Given the description of an element on the screen output the (x, y) to click on. 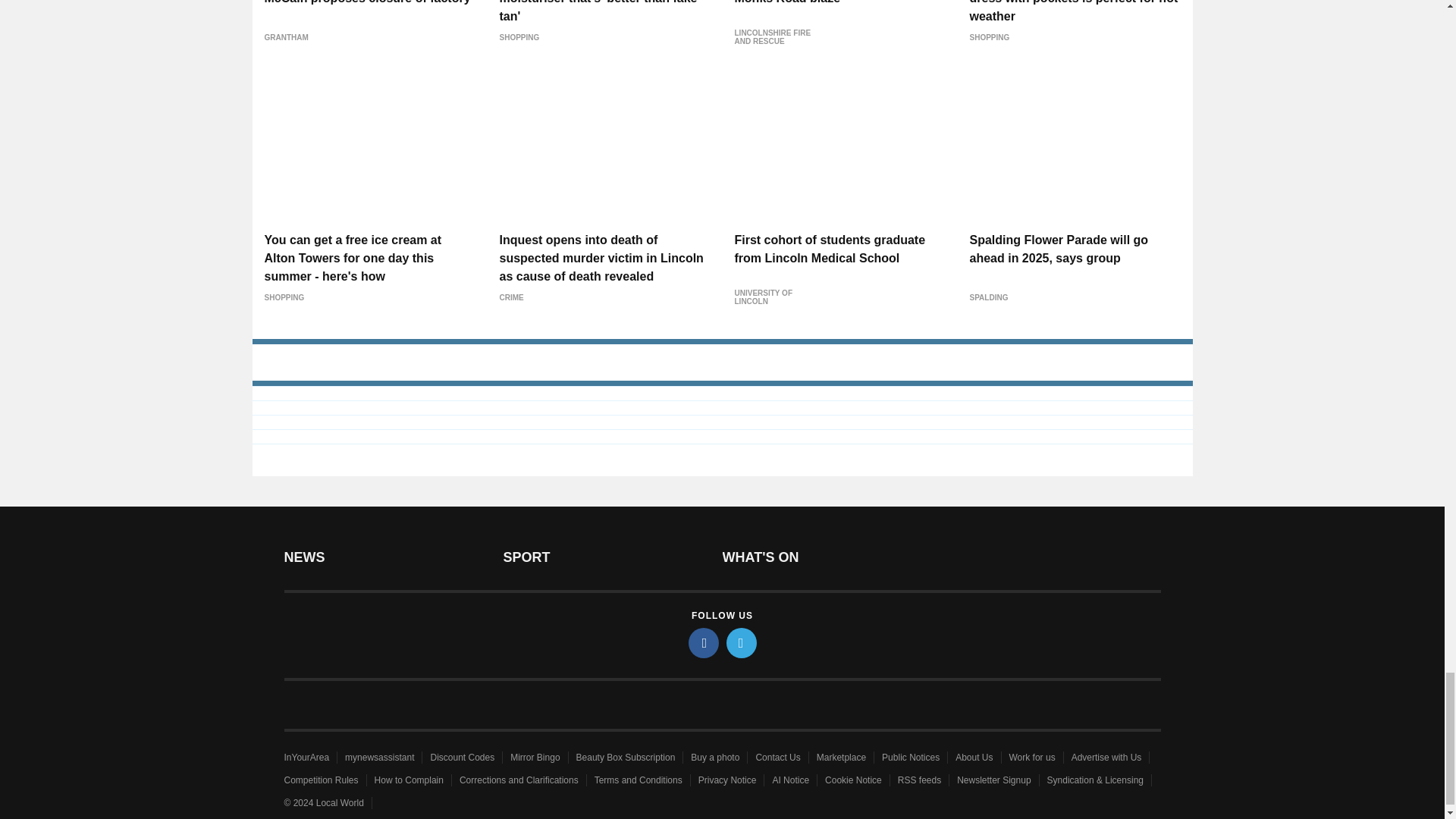
facebook (703, 643)
twitter (741, 643)
